Given the description of an element on the screen output the (x, y) to click on. 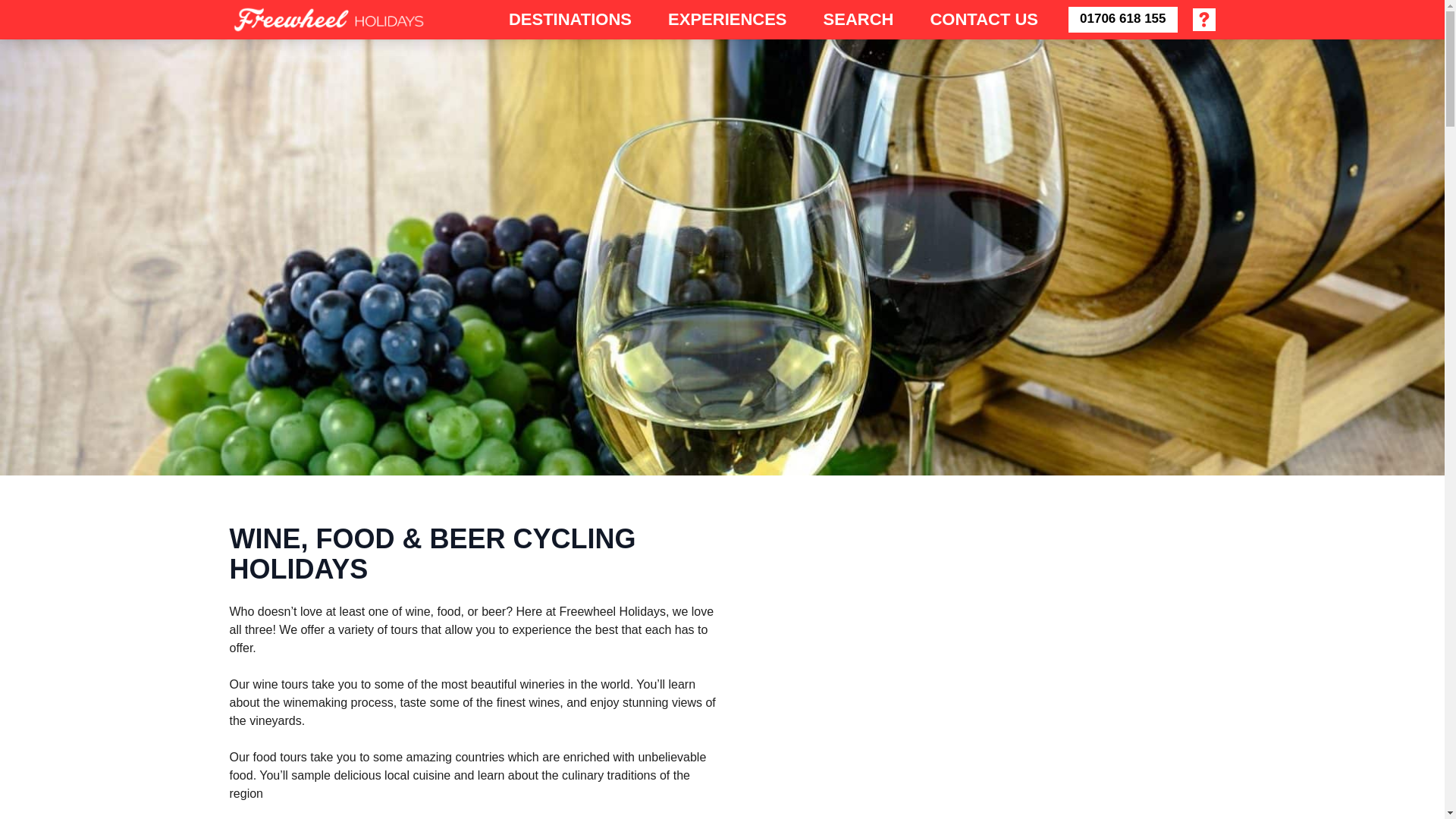
EXPERIENCES (727, 18)
DESTINATIONS (569, 18)
CONTACT US (983, 18)
01706 618 155 (1122, 19)
SEARCH (857, 18)
